Given the description of an element on the screen output the (x, y) to click on. 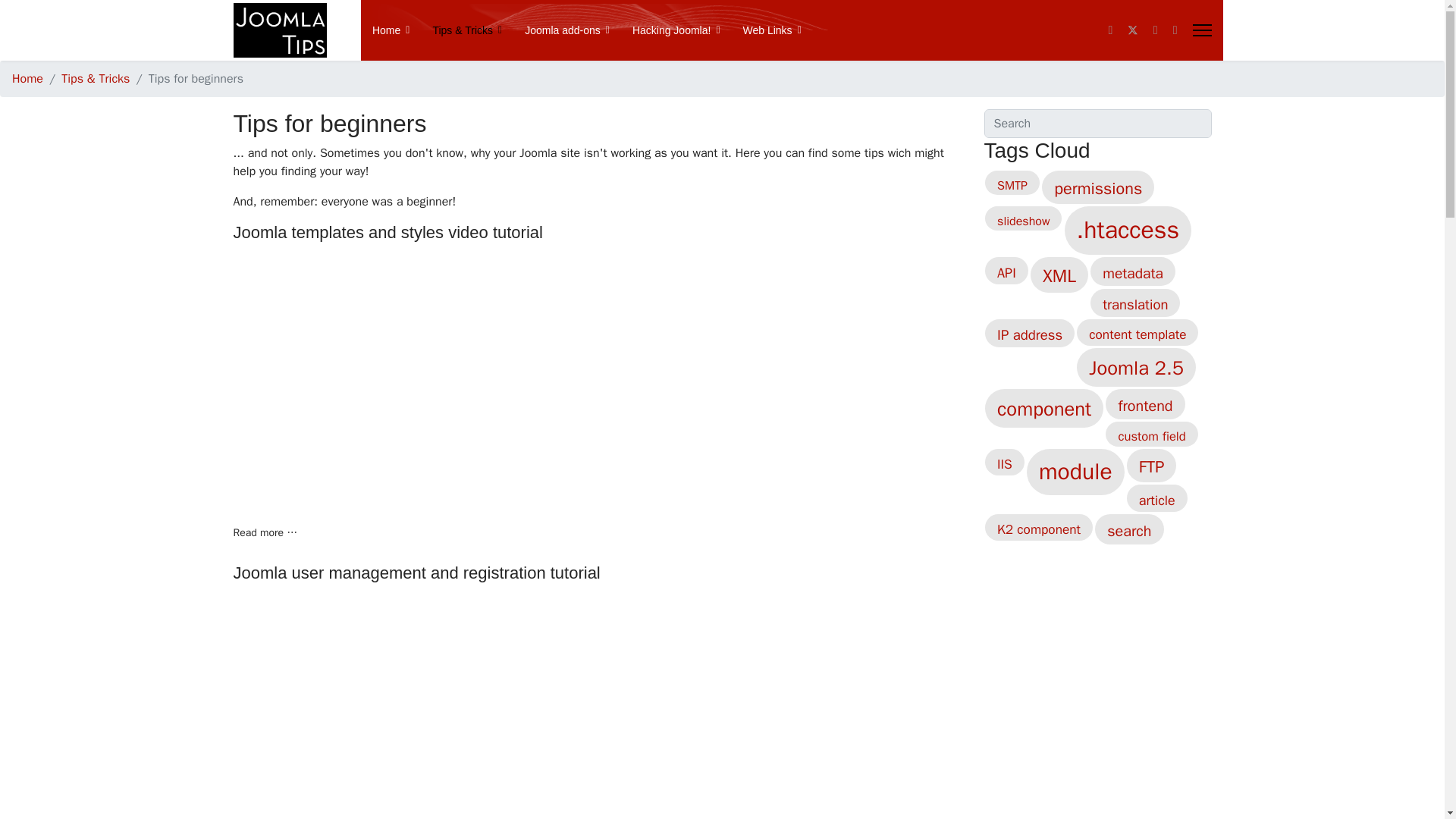
Web Links (767, 30)
Joomla add-ons (567, 30)
Home (390, 30)
Hacking Joomla! (676, 30)
